Given the description of an element on the screen output the (x, y) to click on. 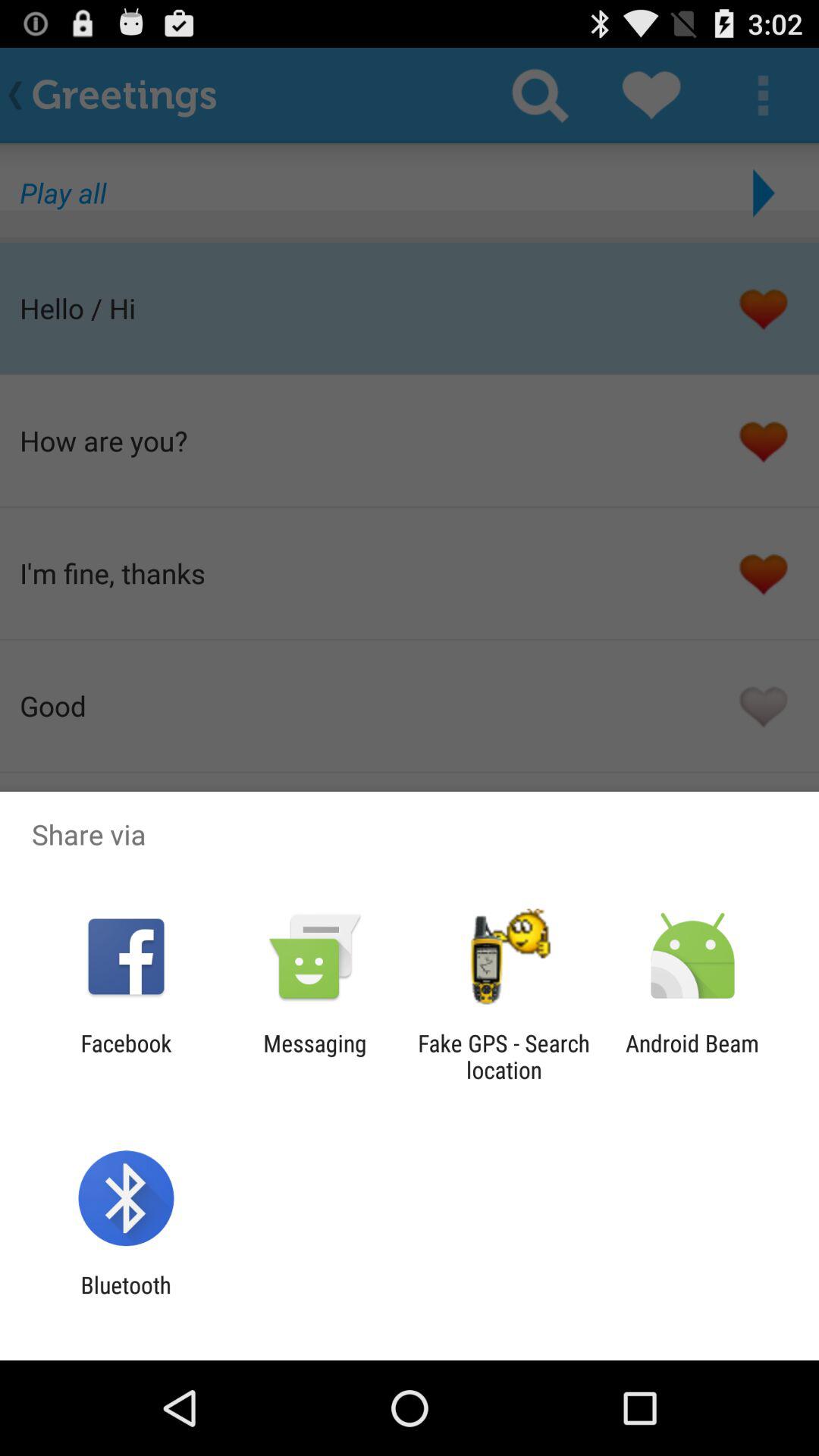
press icon to the right of the fake gps search (692, 1056)
